Given the description of an element on the screen output the (x, y) to click on. 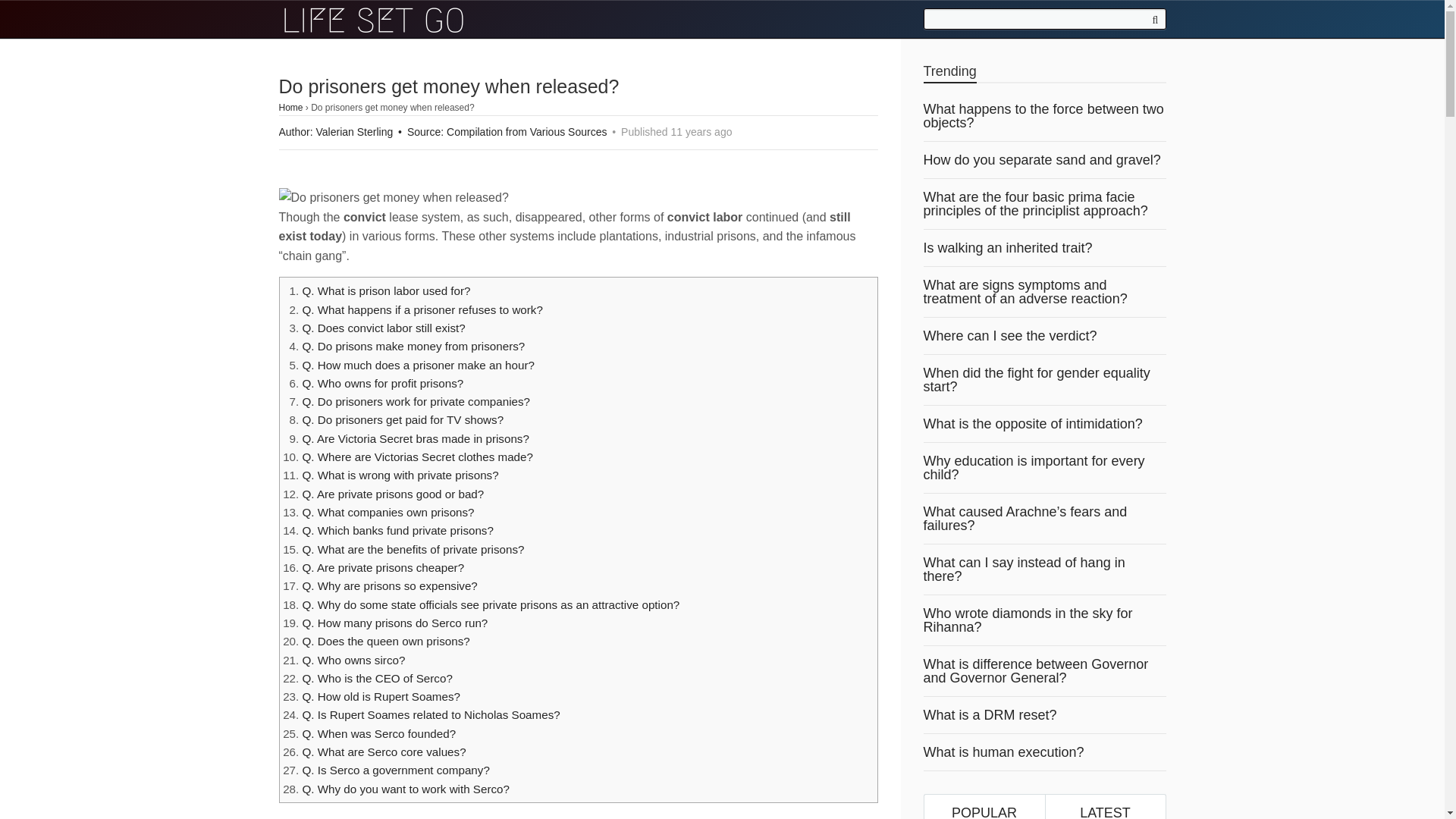
Q. How many prisons do Serco run? (394, 622)
Q. Who owns sirco? (352, 659)
Home (290, 107)
Q. What is wrong with private prisons? (399, 474)
Q. What are the benefits of private prisons? (412, 549)
Q. Does convict labor still exist? (382, 327)
Q. Do prisoners get paid for TV shows? (402, 419)
Q. How old is Rupert Soames? (380, 696)
Q. Who is the CEO of Serco? (376, 677)
Q. Are private prisons cheaper? (382, 567)
